Given the description of an element on the screen output the (x, y) to click on. 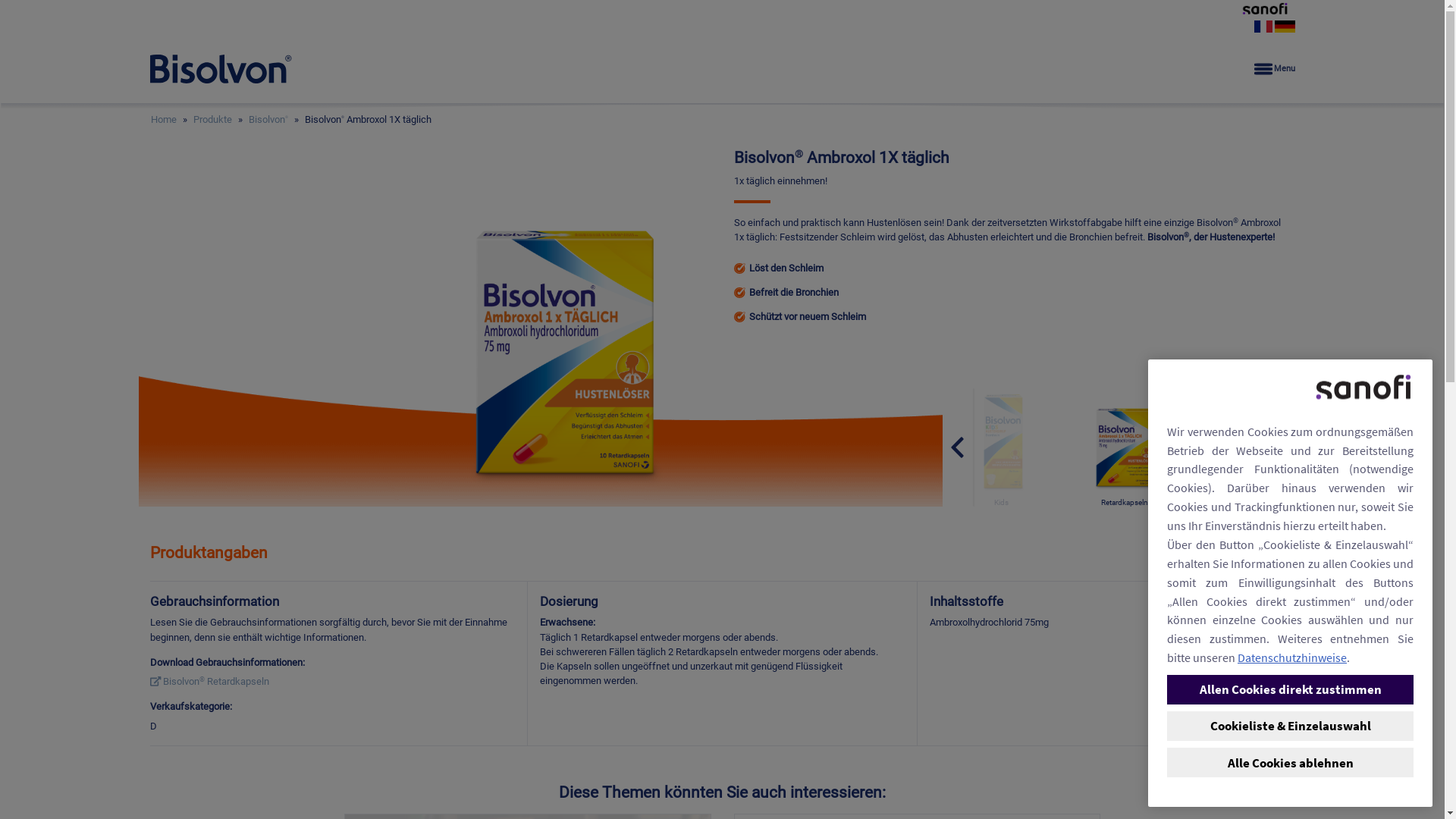
Cookieliste & Einzelauswahl Element type: text (1290, 725)
Datenschutzhinweise Element type: text (1291, 657)
Home Element type: text (162, 119)
Allen Cookies direkt zustimmen Element type: text (1290, 688)
Produkte Element type: text (211, 119)
Alle Cookies ablehnen Element type: text (1290, 761)
